Given the description of an element on the screen output the (x, y) to click on. 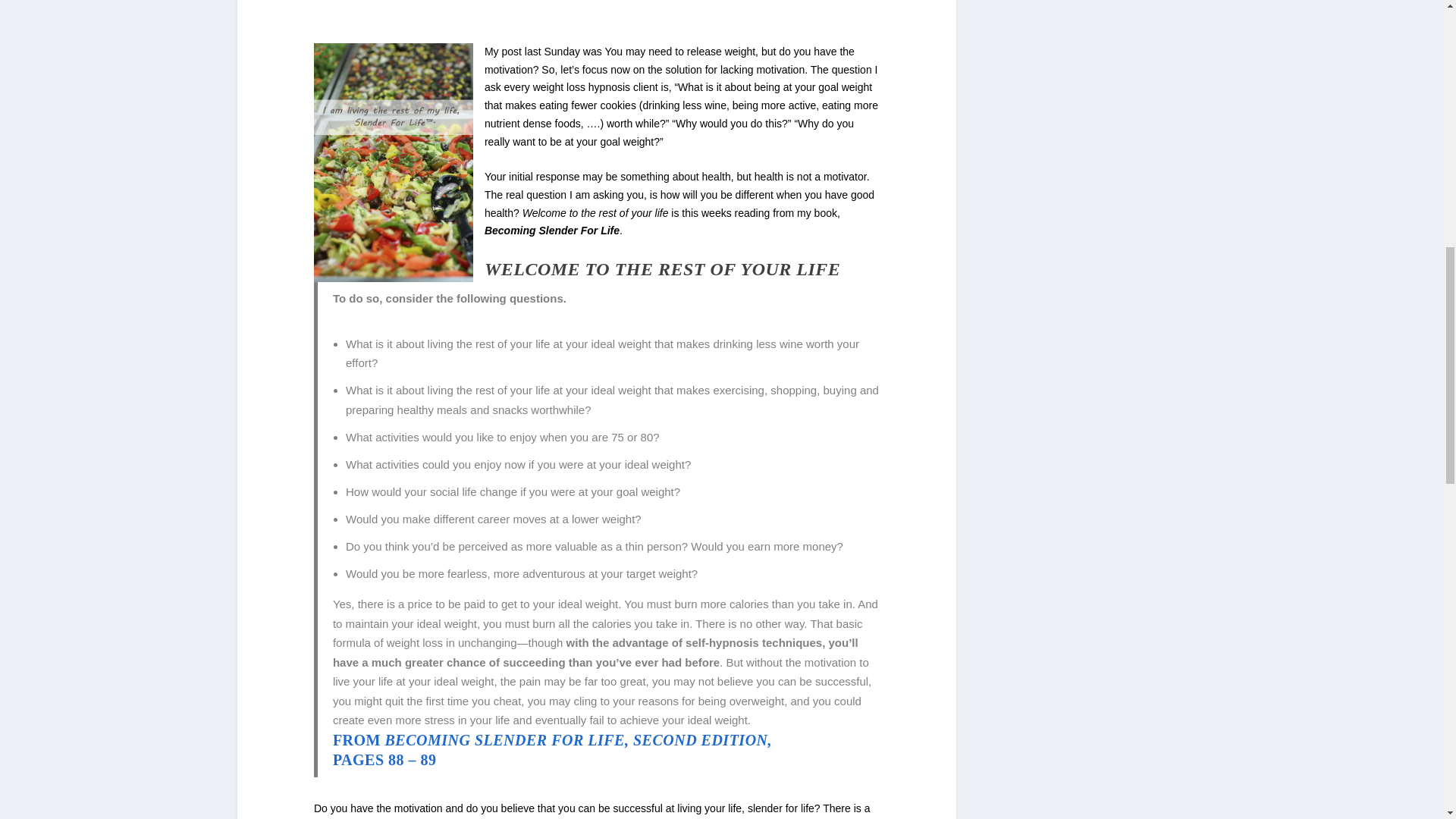
Becoming Slender For Life (575, 740)
Becoming Slender For Life (384, 759)
Becoming Slender For Life (356, 740)
